Given the description of an element on the screen output the (x, y) to click on. 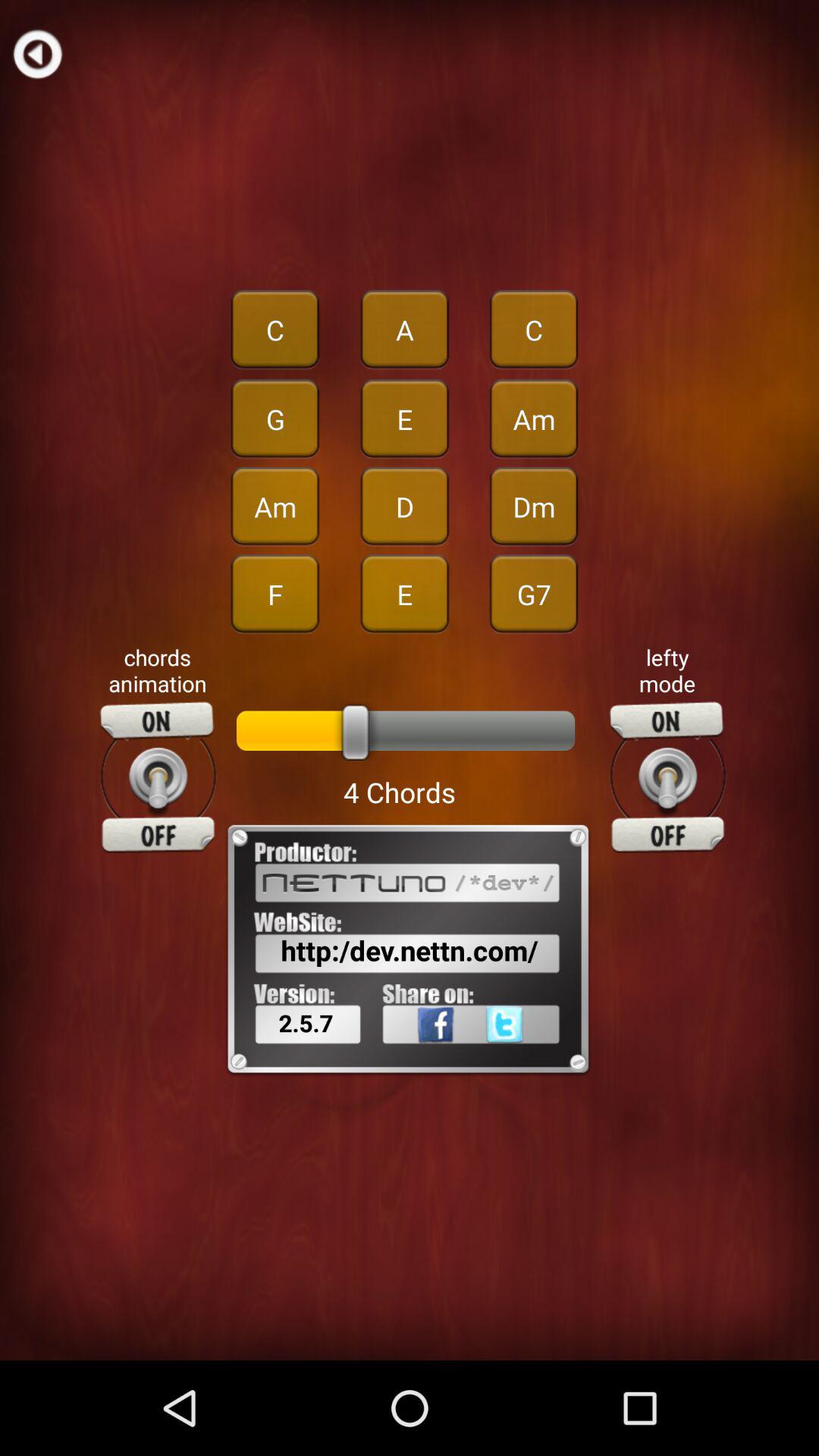
share on facebook (415, 1057)
